Given the description of an element on the screen output the (x, y) to click on. 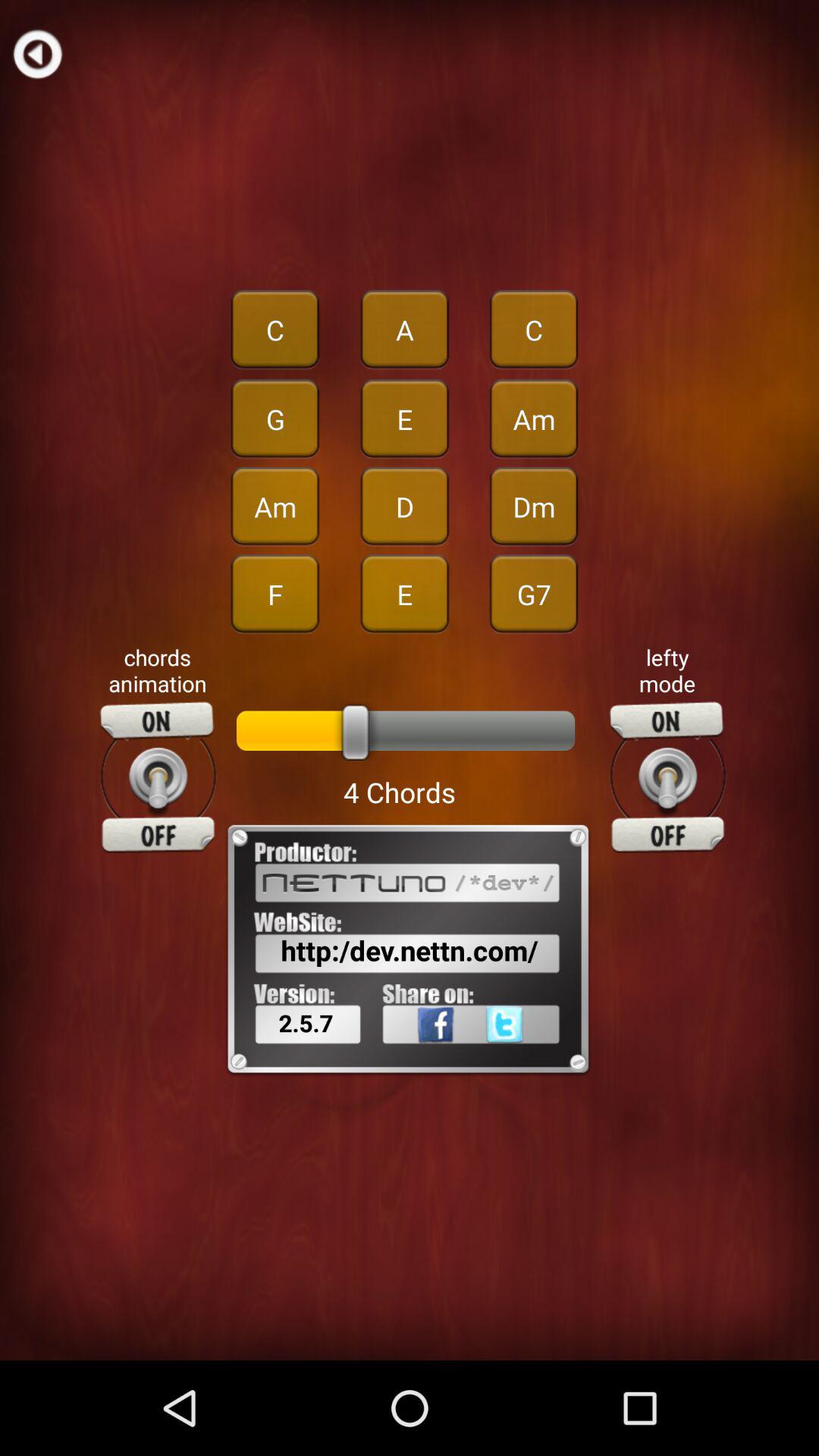
share on facebook (415, 1057)
